Given the description of an element on the screen output the (x, y) to click on. 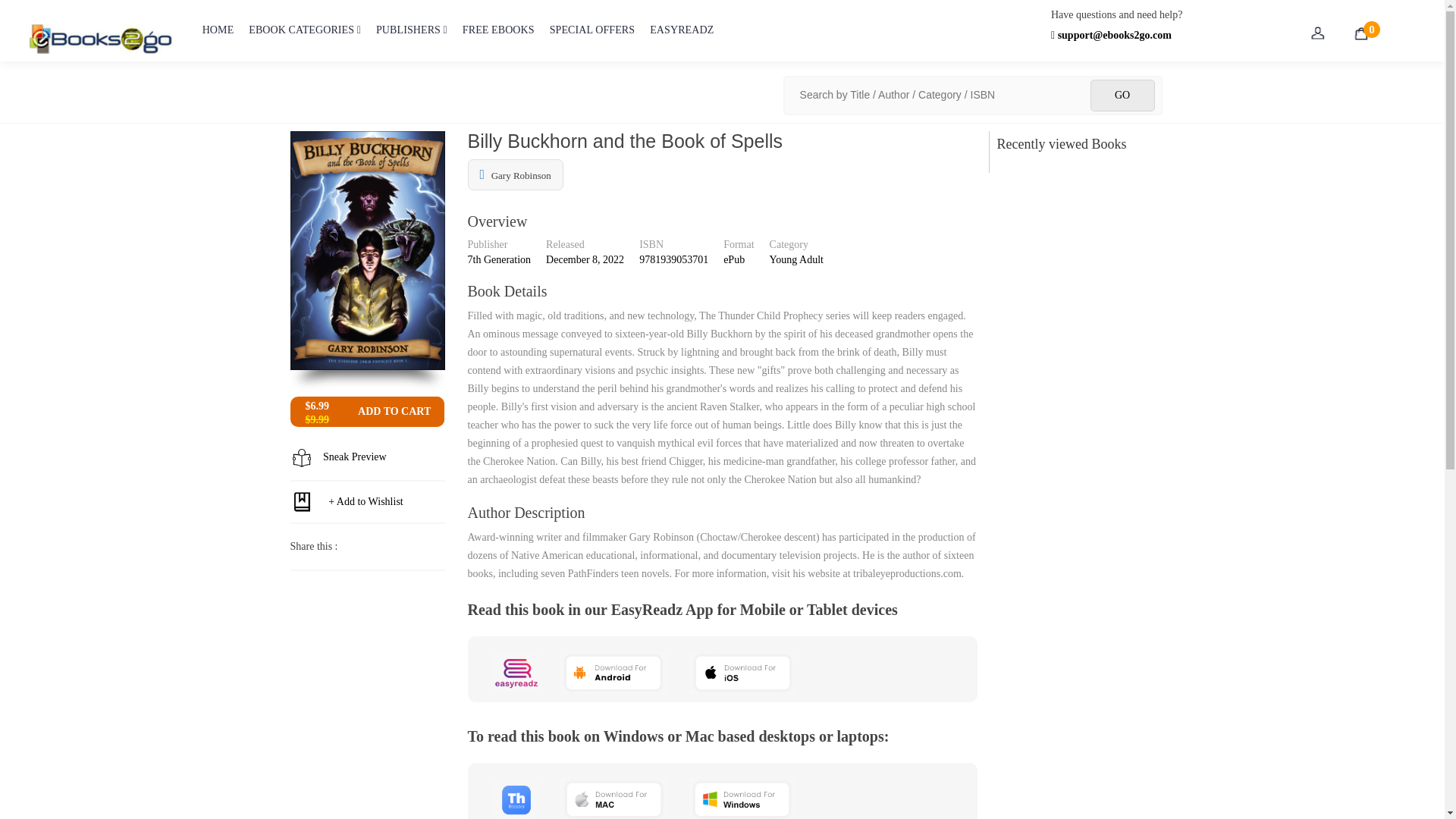
Add to cart (394, 411)
EBOOK CATEGORIES (304, 40)
HOME (218, 40)
GO (1122, 95)
